Given the description of an element on the screen output the (x, y) to click on. 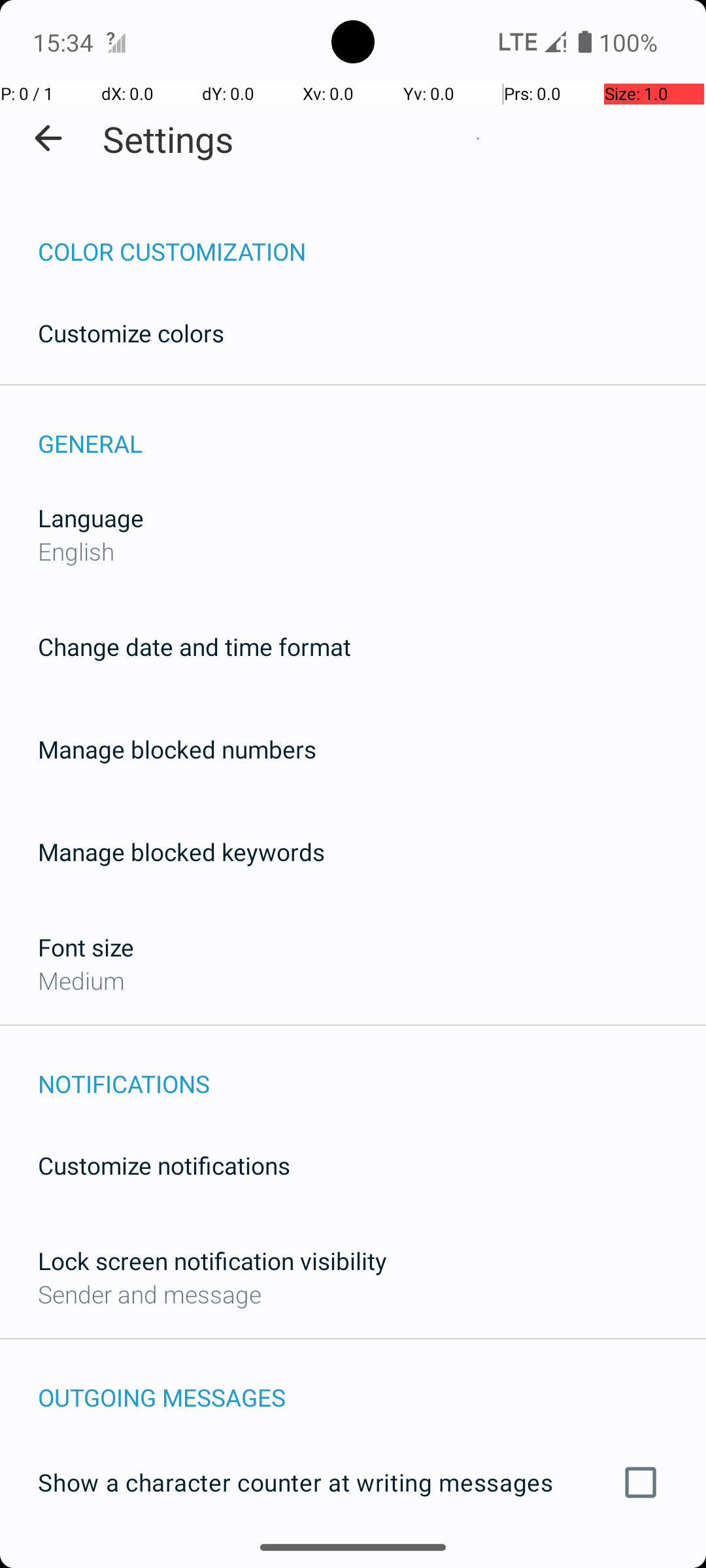
Medium Element type: android.widget.TextView (80, 979)
Sender and message Element type: android.widget.TextView (149, 1293)
